Given the description of an element on the screen output the (x, y) to click on. 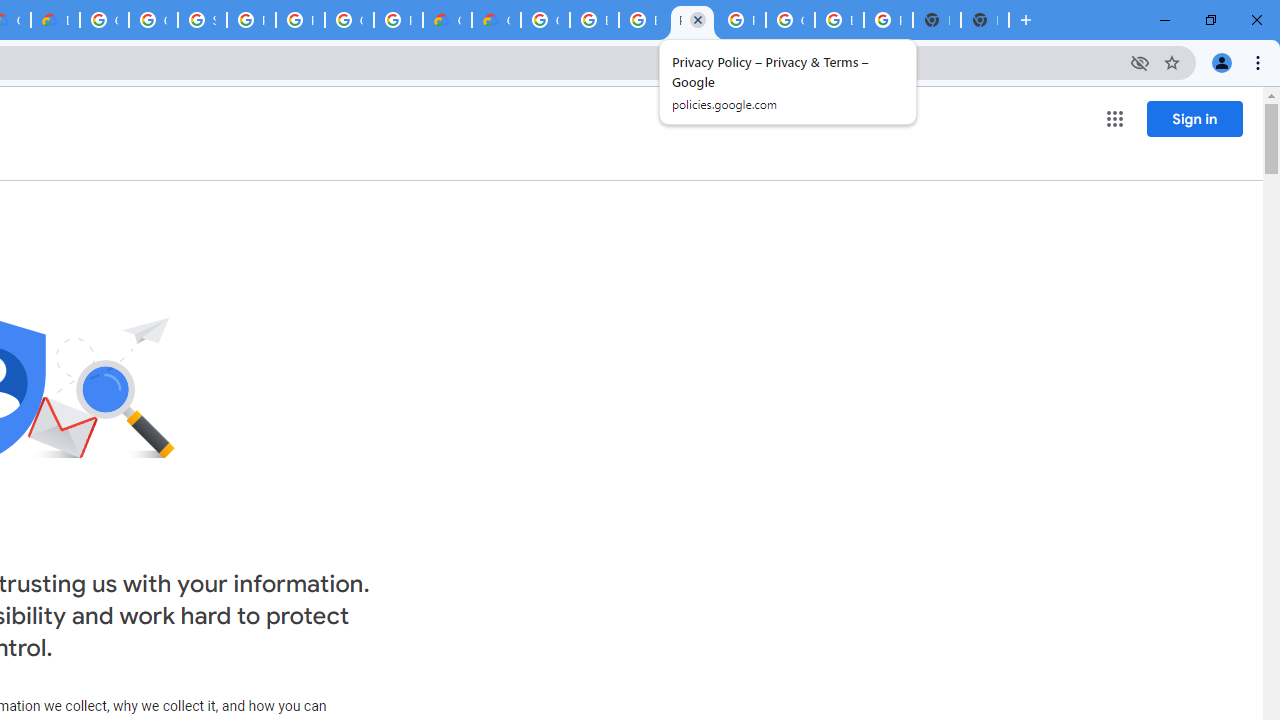
Google Cloud Platform (349, 20)
Customer Care | Google Cloud (447, 20)
Google Cloud Platform (545, 20)
Google Cloud Platform (104, 20)
